Given the description of an element on the screen output the (x, y) to click on. 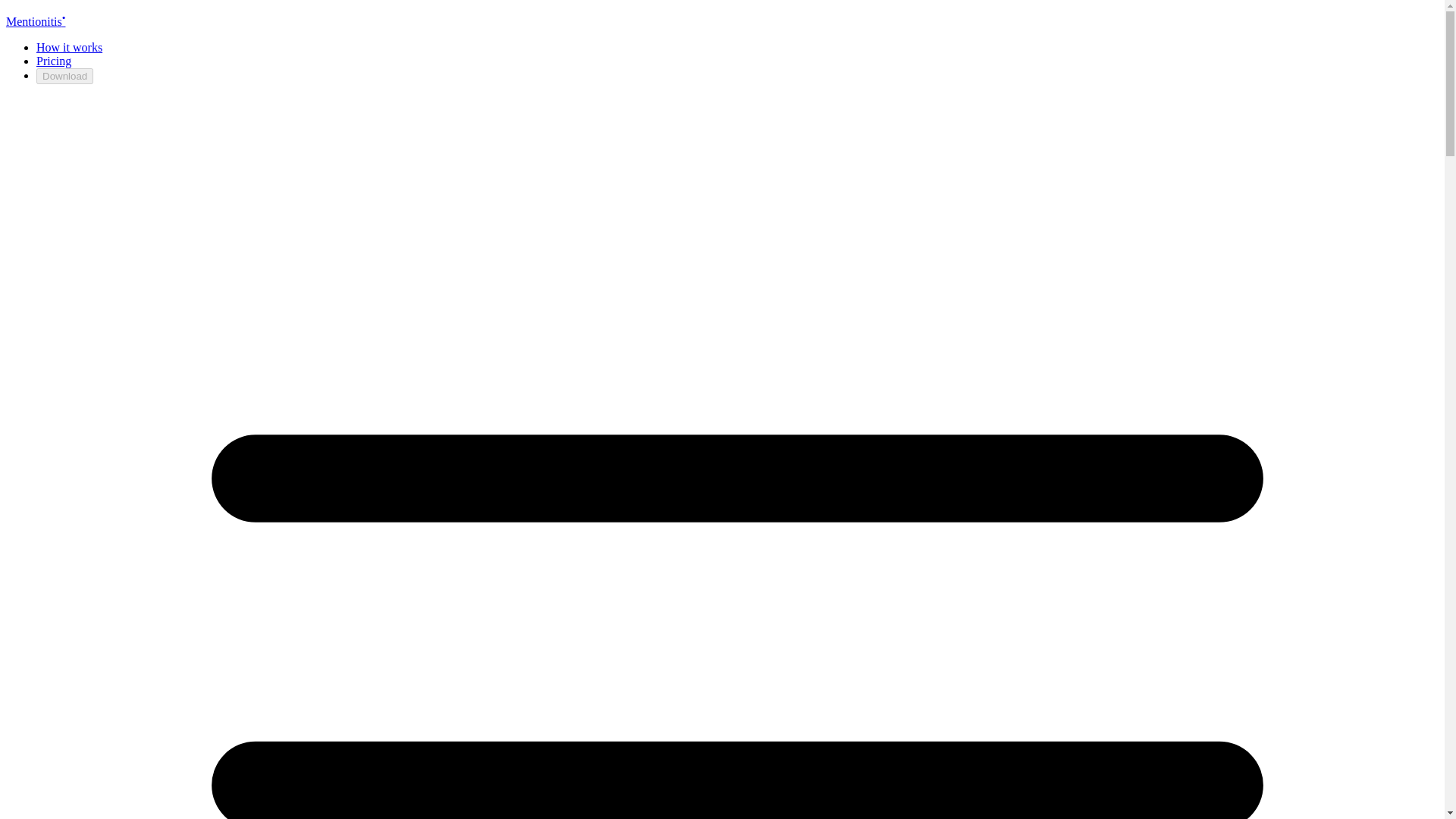
Download (64, 75)
Pricing (53, 60)
Download (64, 74)
How it works (68, 47)
